Given the description of an element on the screen output the (x, y) to click on. 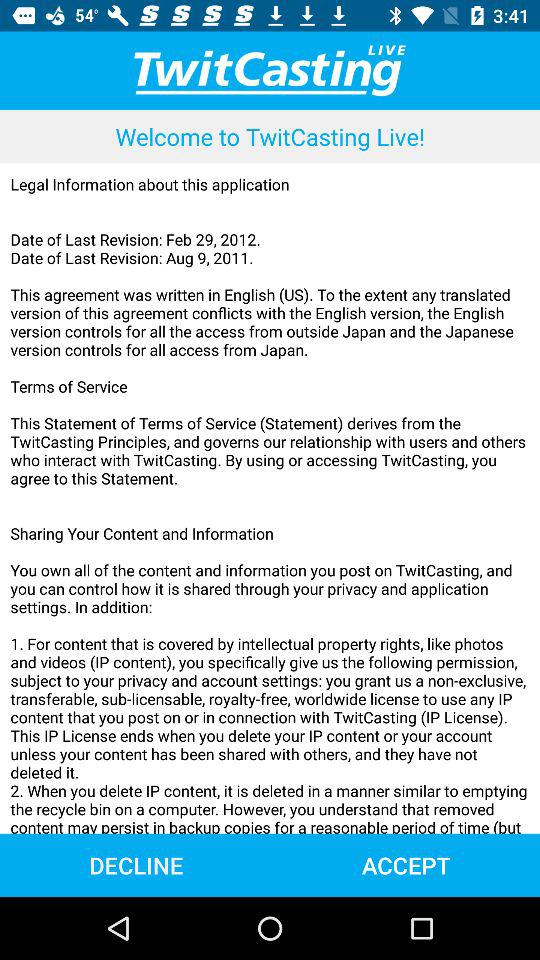
click icon below legal information about icon (136, 864)
